Given the description of an element on the screen output the (x, y) to click on. 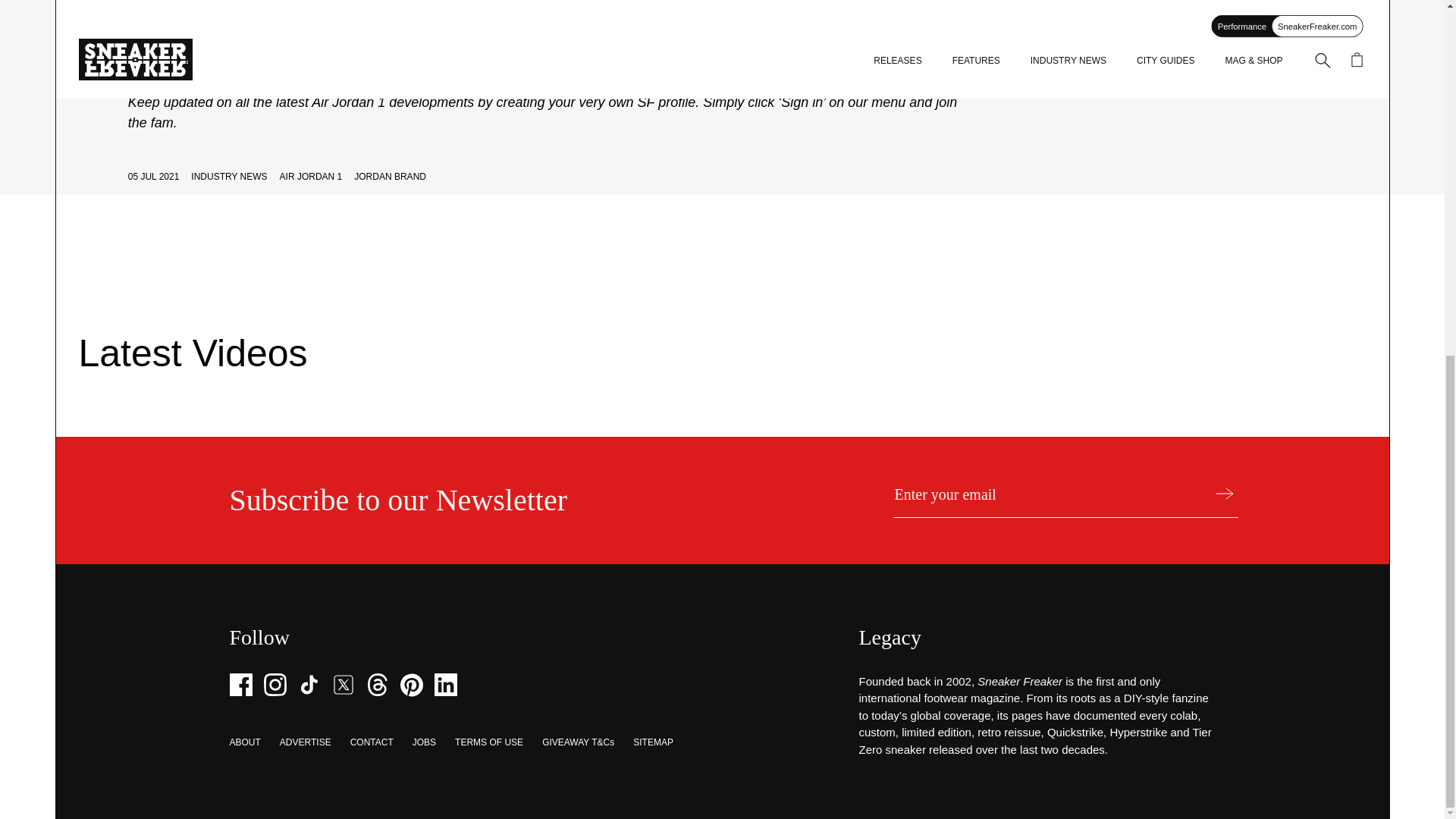
AIR JORDAN 1 (310, 176)
SITEMAP (652, 742)
INDUSTRY NEWS (228, 176)
CONTACT (371, 742)
JORDAN BRAND (389, 176)
JOBS (423, 742)
ADVERTISE (305, 742)
ABOUT (244, 742)
TERMS OF USE (488, 742)
